Given the description of an element on the screen output the (x, y) to click on. 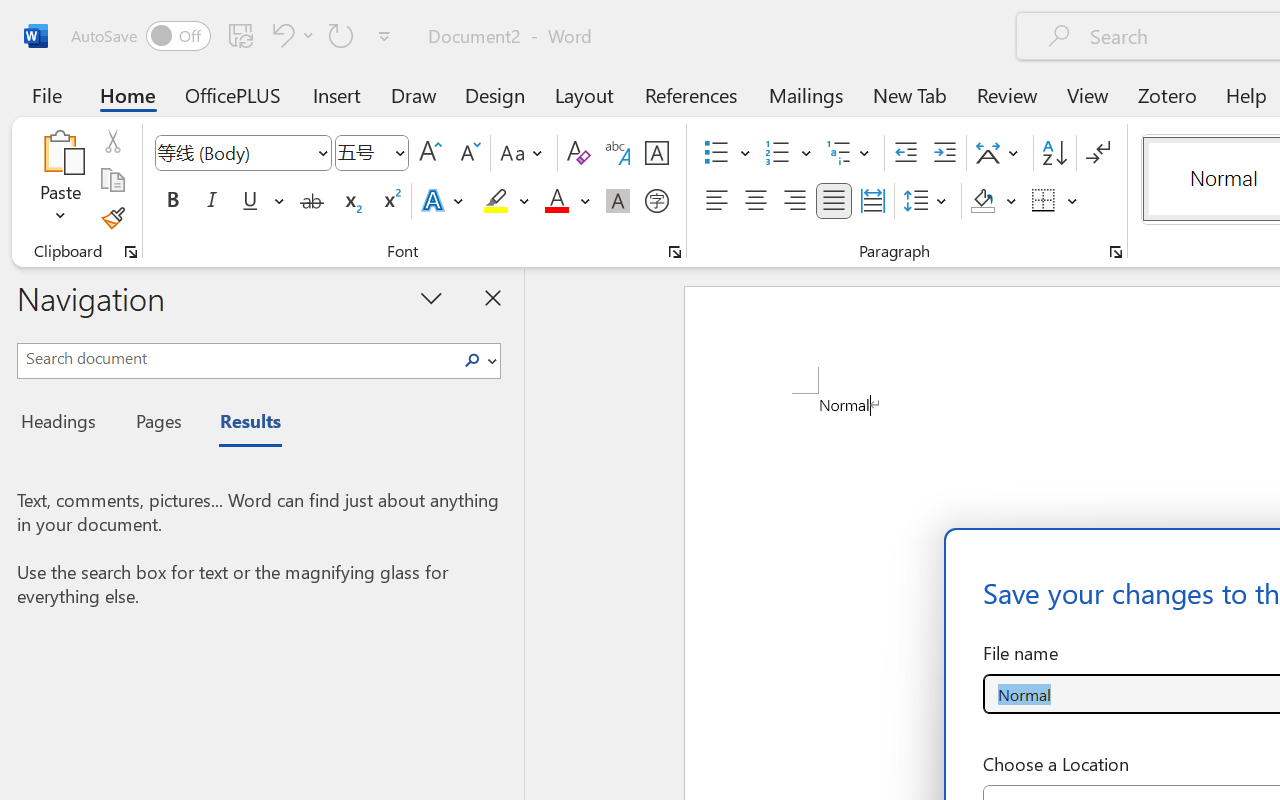
Enclose Characters... (656, 201)
Headings (64, 424)
Customize Quick Access Toolbar (384, 35)
Font (234, 152)
Font Size (362, 152)
Center (756, 201)
Bold (172, 201)
Numbering (788, 153)
Borders (1044, 201)
Text Highlight Color Yellow (495, 201)
Search document (236, 358)
Text Highlight Color (506, 201)
Line and Paragraph Spacing (927, 201)
Repeat Doc Close (341, 35)
Text Effects and Typography (444, 201)
